Given the description of an element on the screen output the (x, y) to click on. 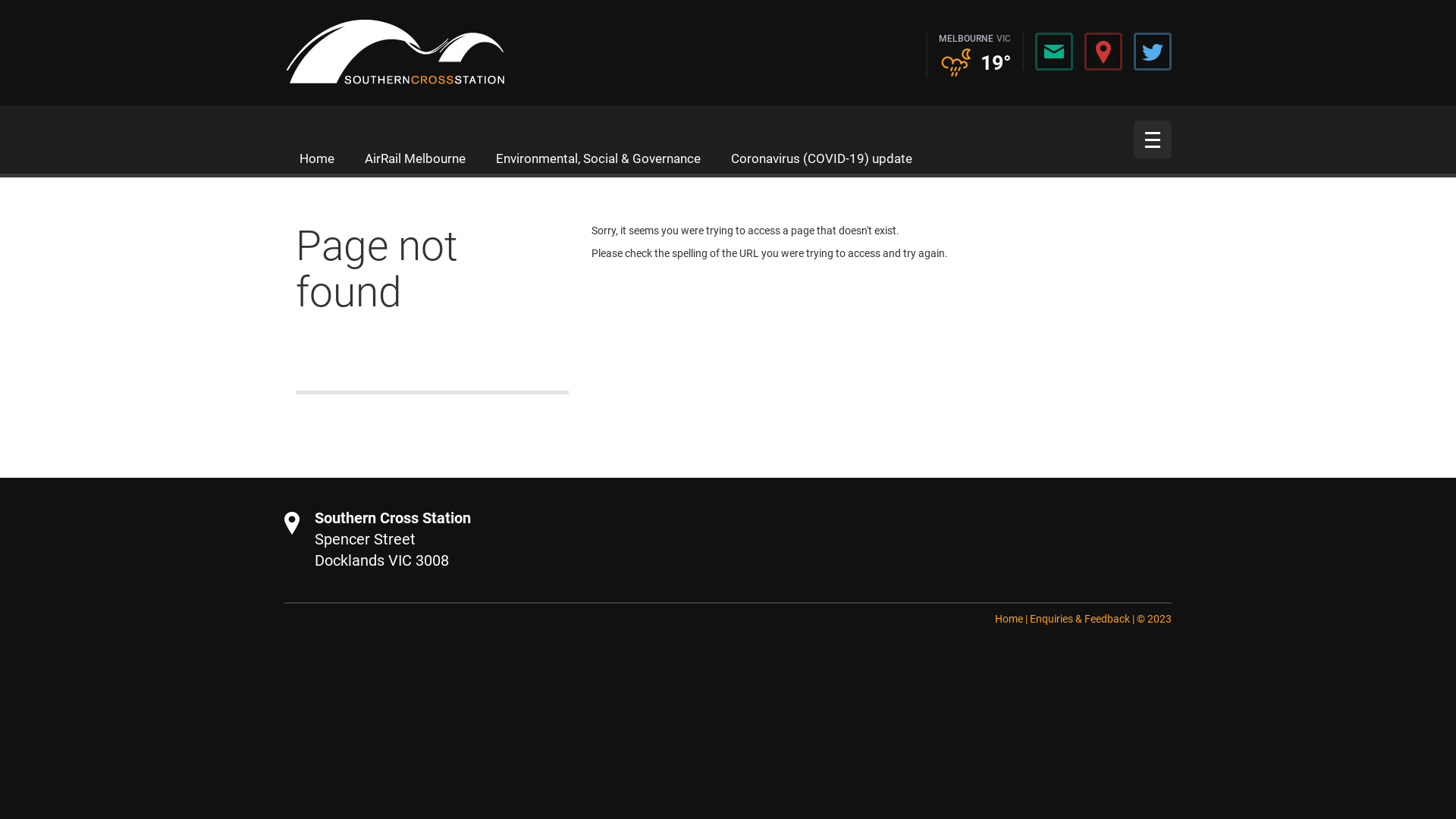
Home Element type: text (316, 158)
Enquiries & Feedback Element type: text (1079, 618)
Coronavirus (COVID-19) update Element type: text (821, 158)
AirRail Melbourne Element type: text (414, 158)
Home Element type: text (1008, 618)
Environmental, Social & Governance Element type: text (597, 158)
